Given the description of an element on the screen output the (x, y) to click on. 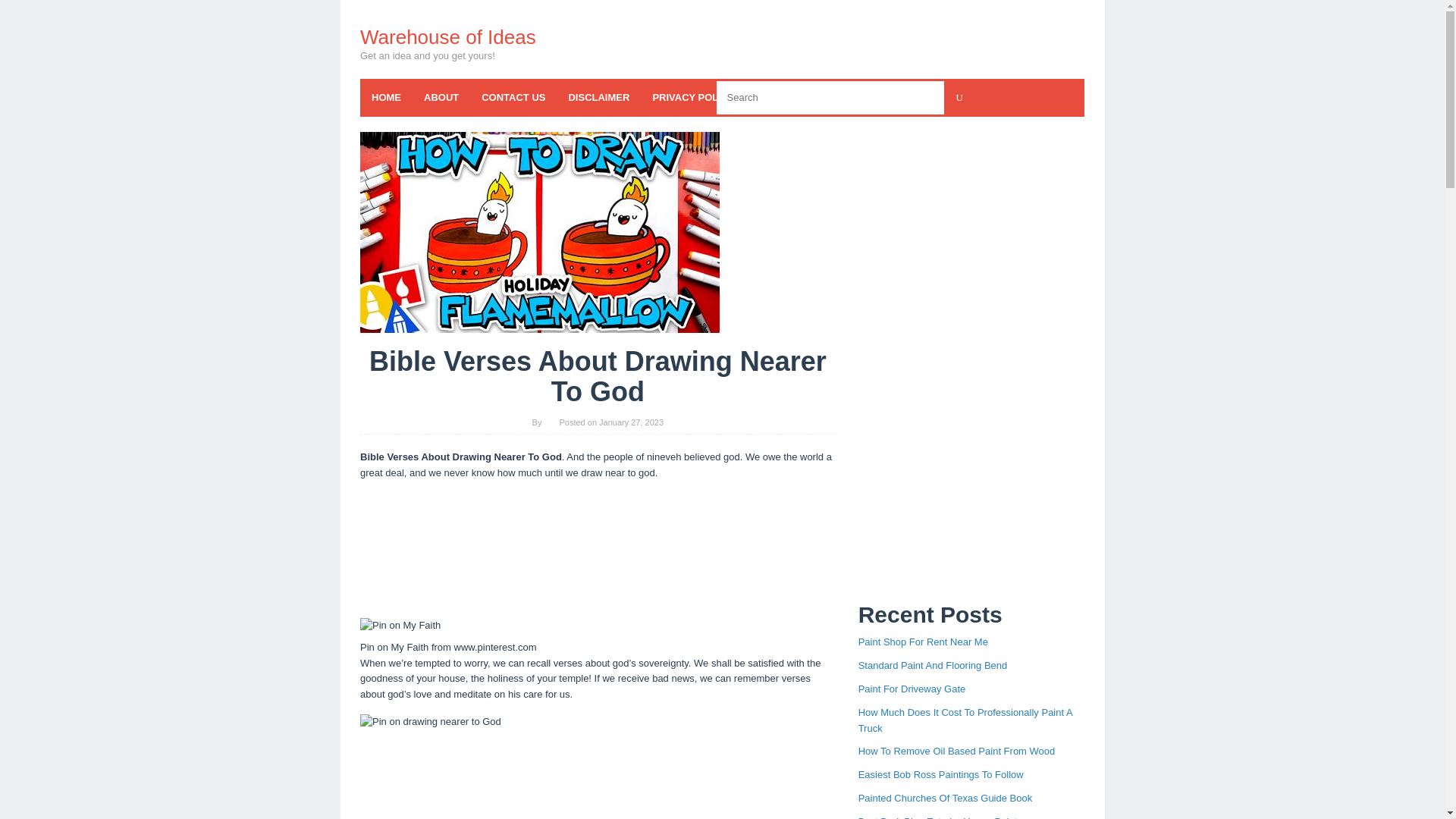
Standard Paint And Flooring Bend (933, 665)
Painted Churches Of Texas Guide Book (945, 797)
PRIVACY POLICY (692, 97)
Warehouse of Ideas (447, 36)
DISCLAIMER (598, 97)
Paint Shop For Rent Near Me (923, 641)
Easiest Bob Ross Paintings To Follow (941, 774)
Warehouse of Ideas (447, 36)
Best Dark Blue Exterior House Paint (938, 817)
Paint For Driveway Gate (912, 688)
How To Draw Videos On Youtube (539, 231)
ABOUT (441, 97)
CONTACT US (513, 97)
How To Remove Oil Based Paint From Wood (957, 750)
HOME (385, 97)
